Given the description of an element on the screen output the (x, y) to click on. 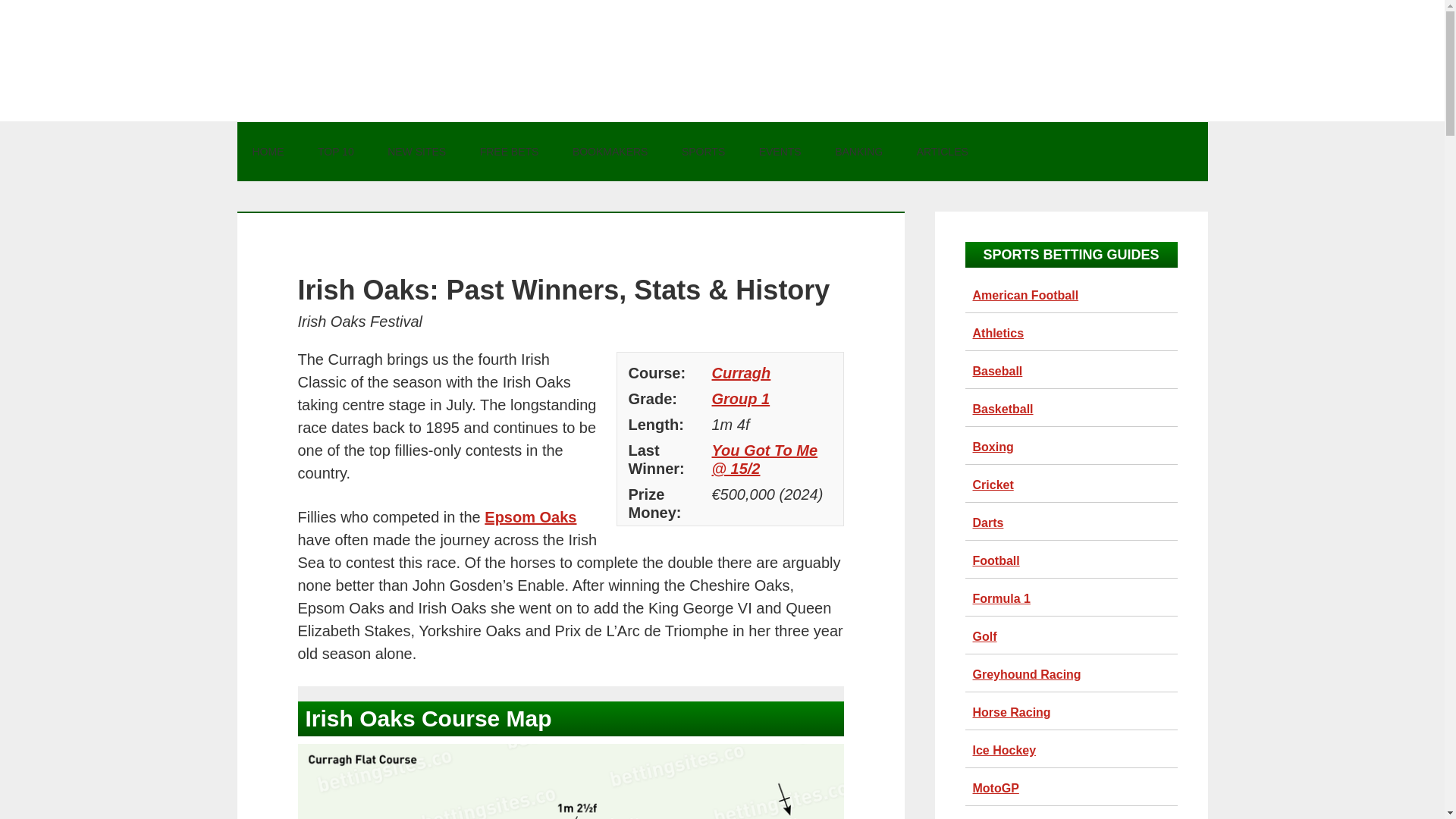
HOME (266, 151)
Curragh (740, 372)
BOOKMAKERS (610, 151)
BettingSites.co (721, 60)
EVENTS (780, 151)
FREE BETS (509, 151)
SPORTS (702, 151)
NEW SITES (416, 151)
TOP 10 (335, 151)
